Given the description of an element on the screen output the (x, y) to click on. 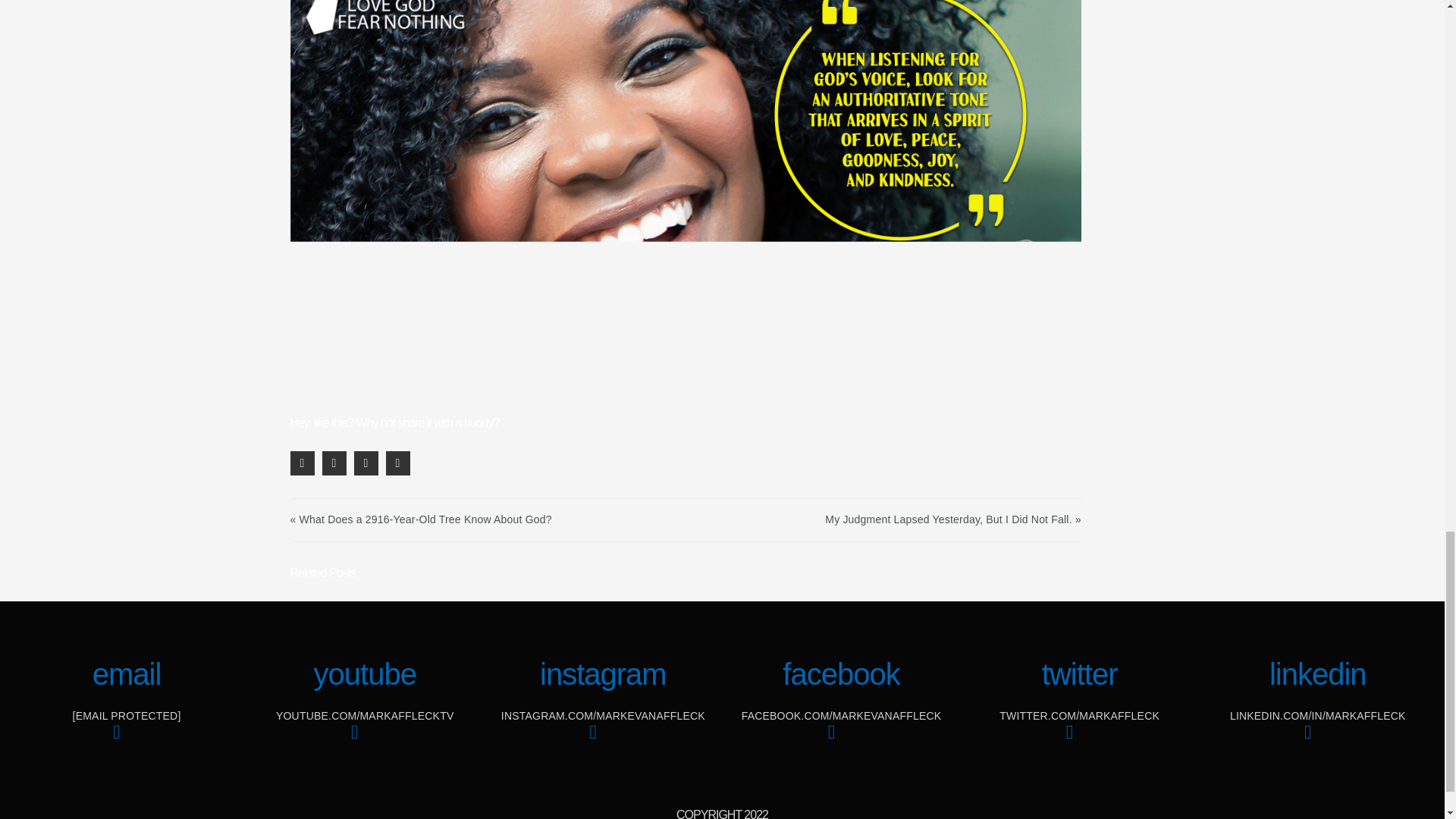
Youtube (364, 742)
Facebook (840, 742)
Instagram (603, 742)
Envelope (126, 742)
